Given the description of an element on the screen output the (x, y) to click on. 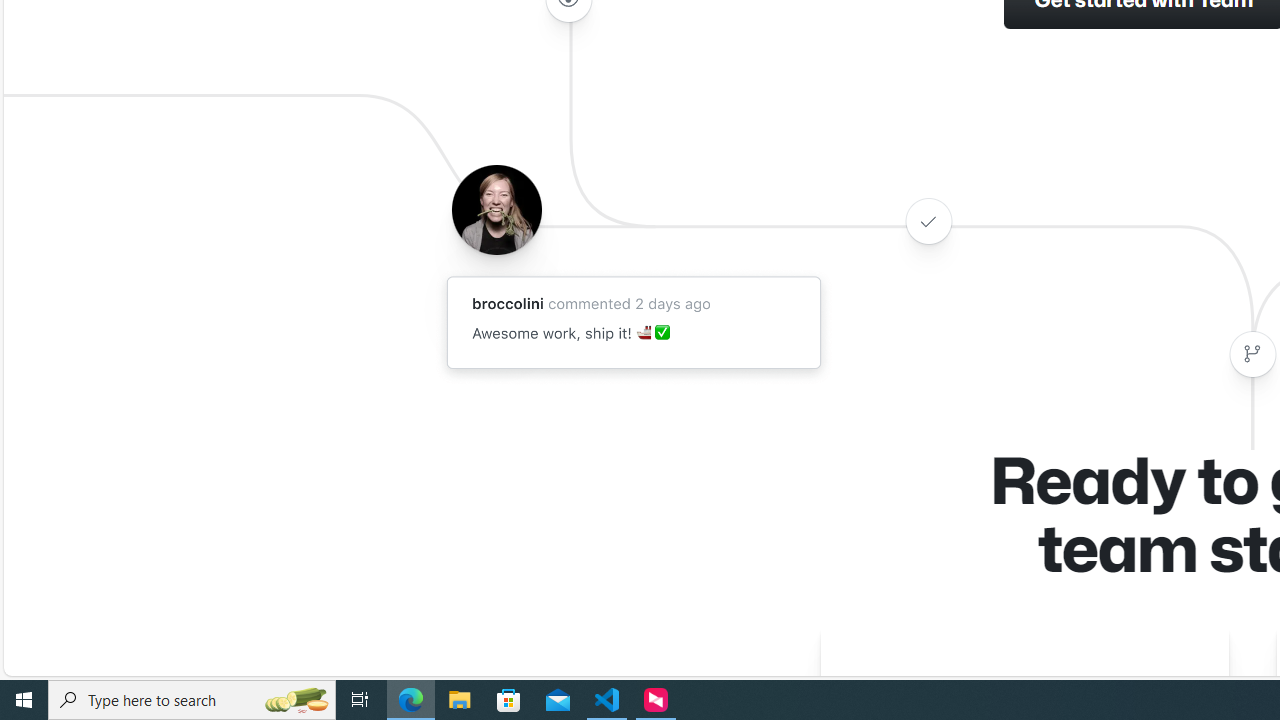
Avatar of the user broccolini (495, 209)
Class: color-fg-muted width-full (1252, 354)
